Given the description of an element on the screen output the (x, y) to click on. 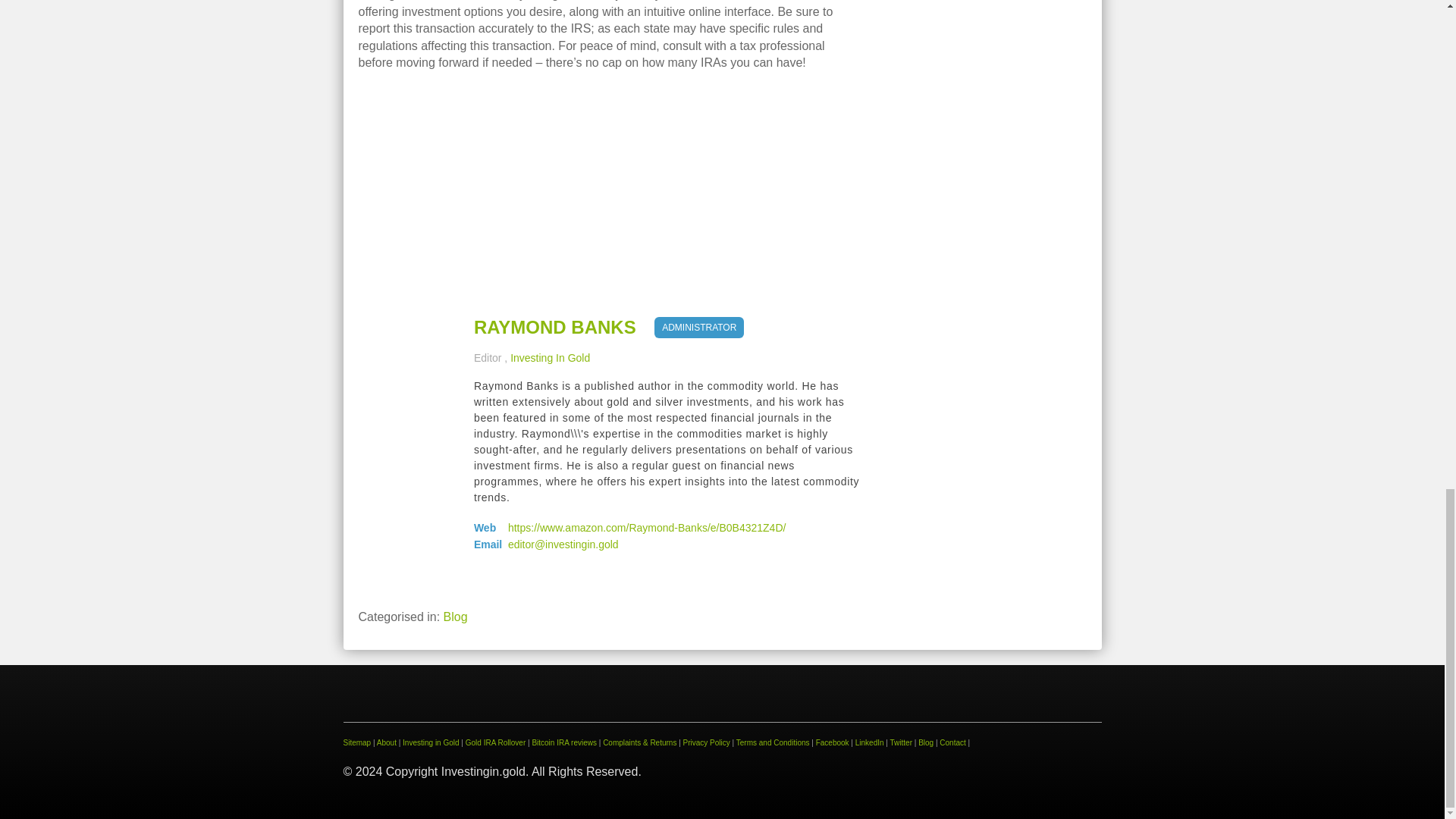
Facebook (831, 742)
Investing in Gold (431, 742)
Twitter (900, 742)
Terms and Conditions (772, 742)
Investing In Gold (550, 357)
Blog (925, 742)
LinkedIn (869, 742)
RAYMOND BANKS (555, 327)
About (386, 742)
Blog (455, 616)
